Given the description of an element on the screen output the (x, y) to click on. 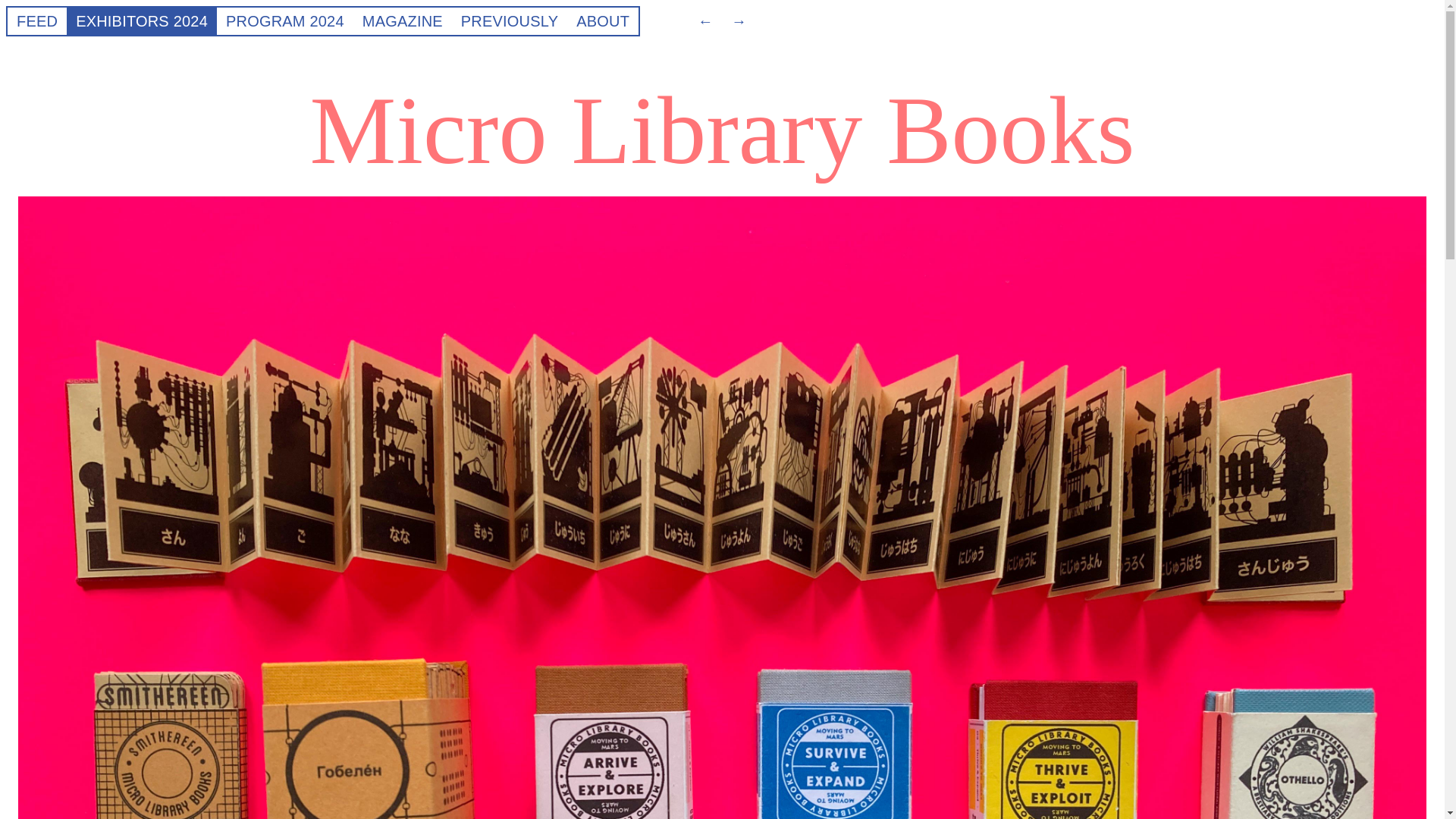
PROGRAM 2024 (284, 20)
FEED (37, 20)
EXHIBITORS 2024 (141, 20)
MAGAZINE (402, 20)
PREVIOUSLY (509, 20)
ABOUT (602, 20)
